Given the description of an element on the screen output the (x, y) to click on. 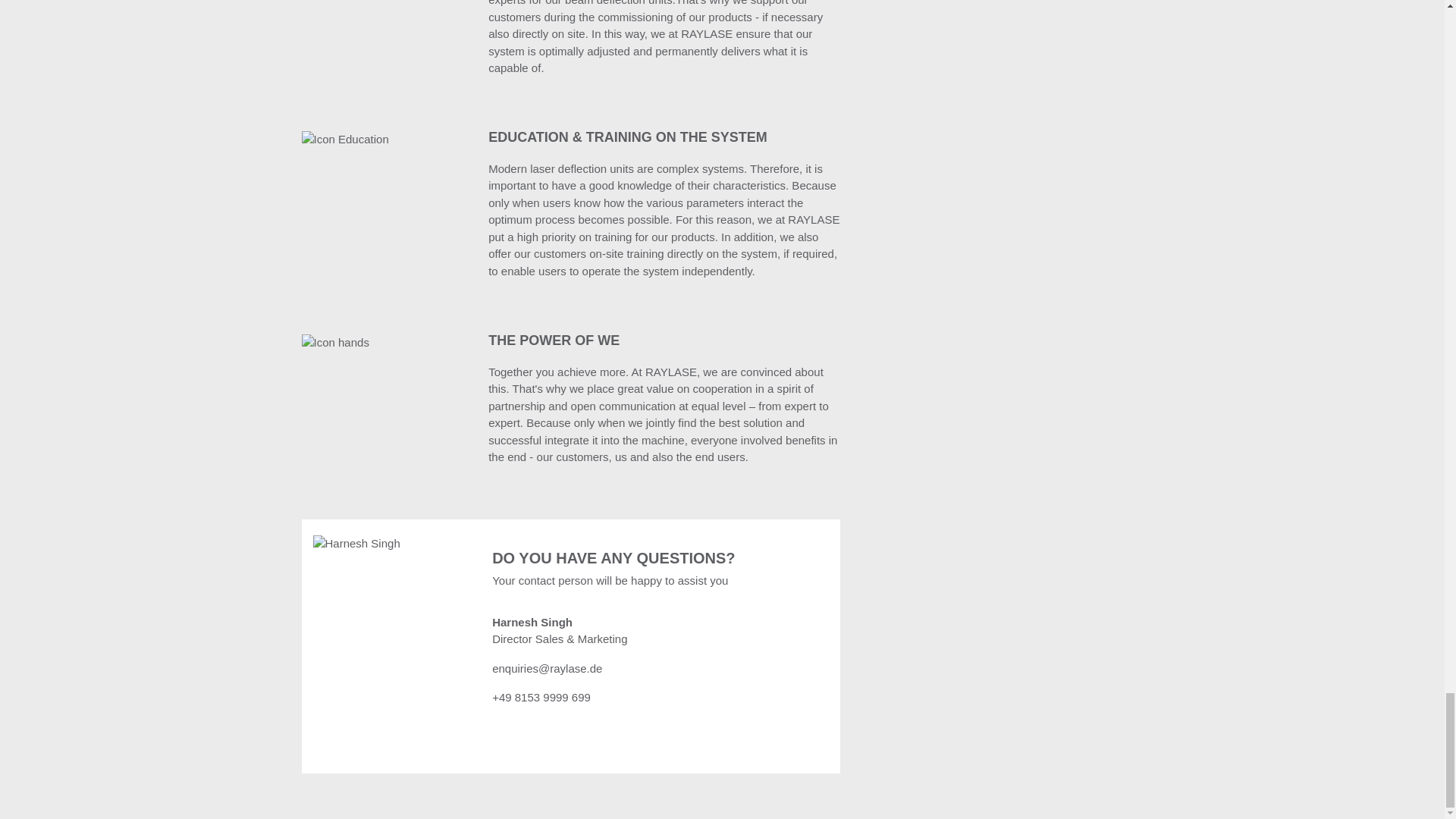
Icon hands (335, 343)
Harnesh Singh (355, 543)
Icon Education (344, 139)
